Given the description of an element on the screen output the (x, y) to click on. 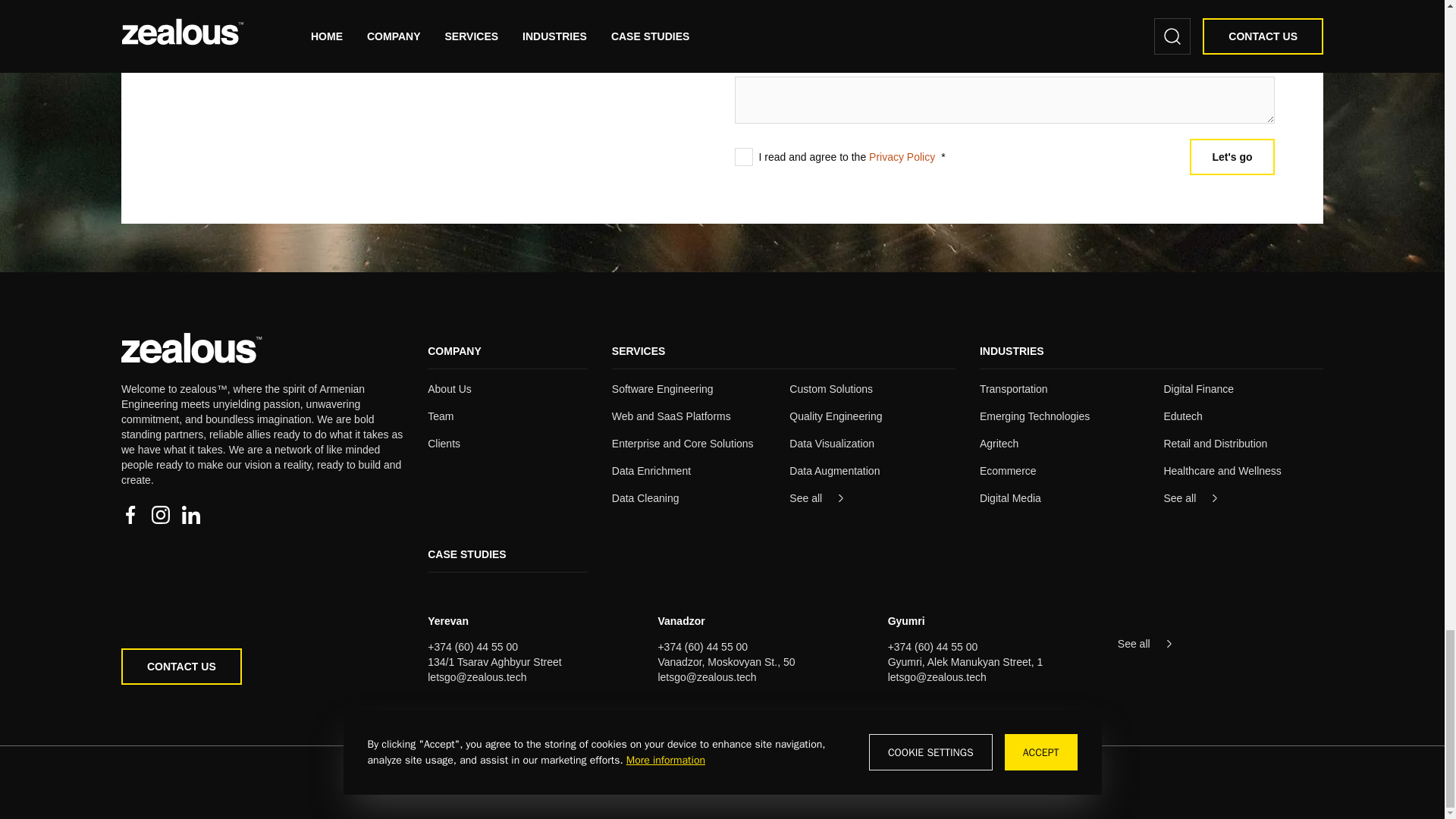
Team (440, 416)
CONTACT US (261, 666)
Privacy Policy (901, 156)
Clients (444, 443)
CONTACT US (180, 666)
About Us (449, 388)
COMPANY (454, 350)
Let's go (1232, 156)
